Given the description of an element on the screen output the (x, y) to click on. 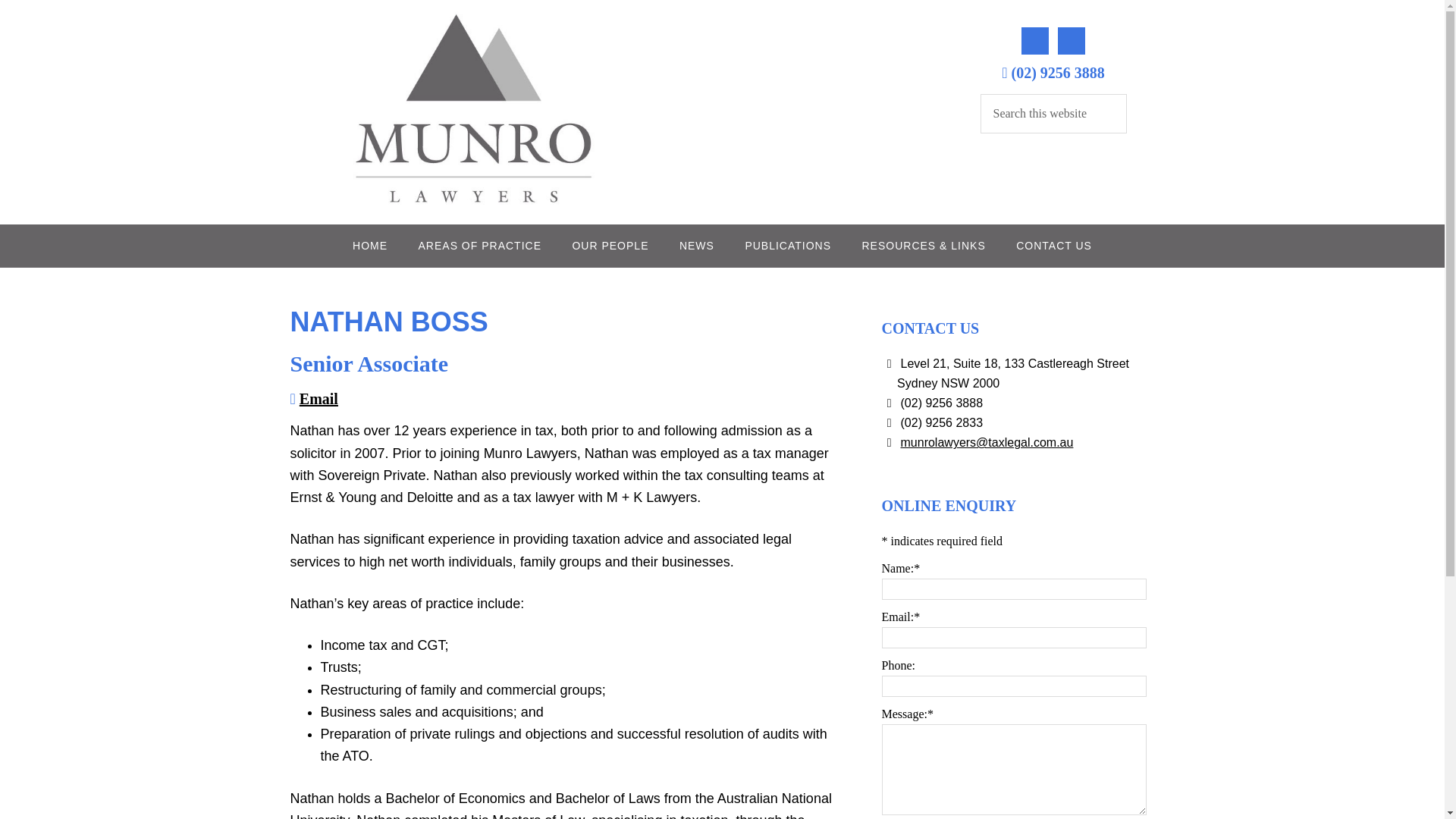
Munro Lawyers (475, 210)
AREAS OF PRACTICE (479, 245)
HOME (370, 245)
PUBLICATIONS (787, 245)
Email (318, 398)
OUR PEOPLE (609, 245)
NEWS (696, 245)
